Given the description of an element on the screen output the (x, y) to click on. 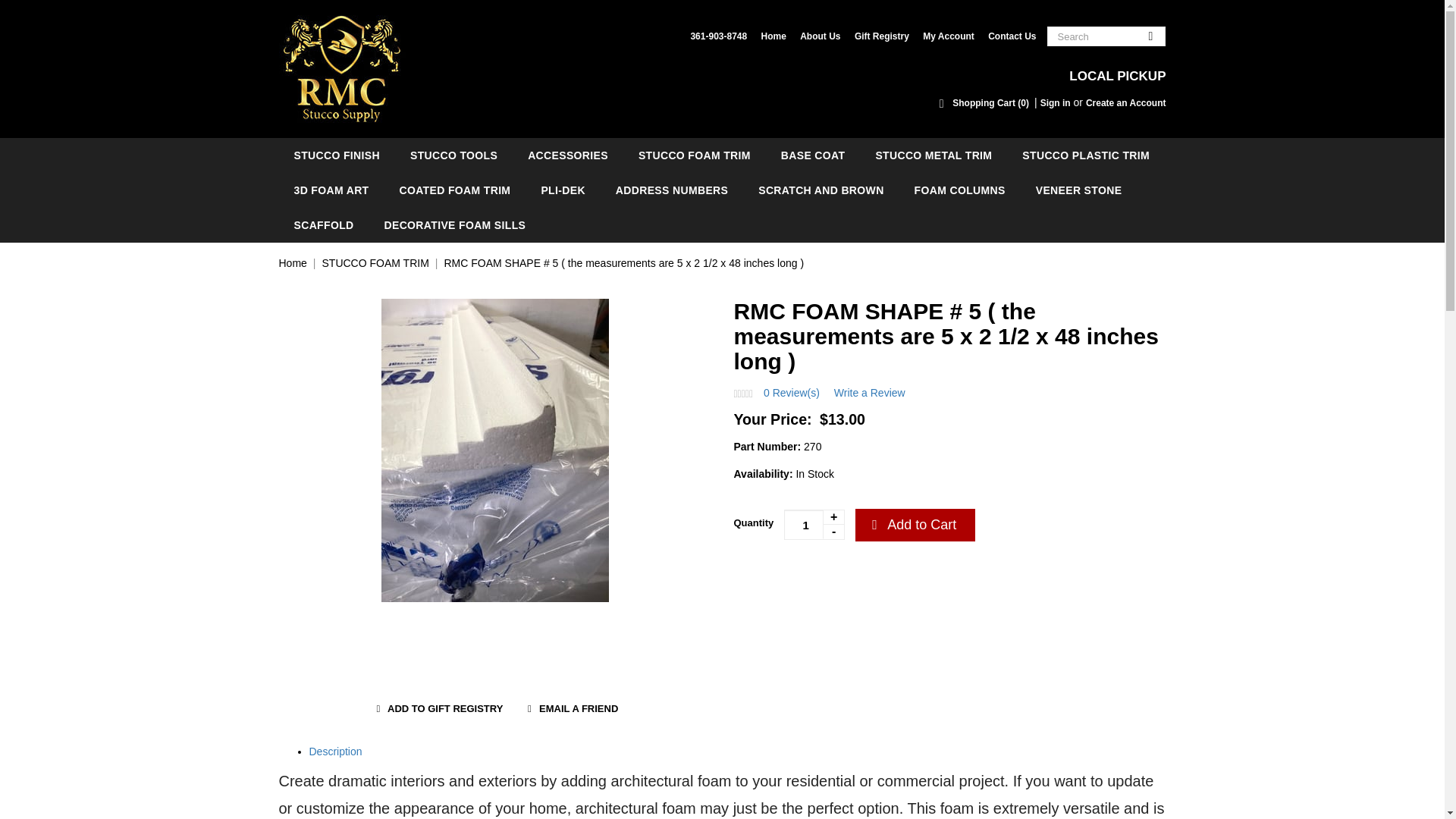
Contact Us (1011, 36)
Create an Account (1126, 102)
EMAIL A FRIEND (569, 709)
PLI-DEK (562, 190)
STUCCO PLASTIC TRIM (1085, 155)
3D FOAM ART (331, 190)
SCAFFOLD (324, 225)
DECORATIVE FOAM SILLS (455, 225)
STUCCO METAL TRIM (933, 155)
Home (293, 263)
